Given the description of an element on the screen output the (x, y) to click on. 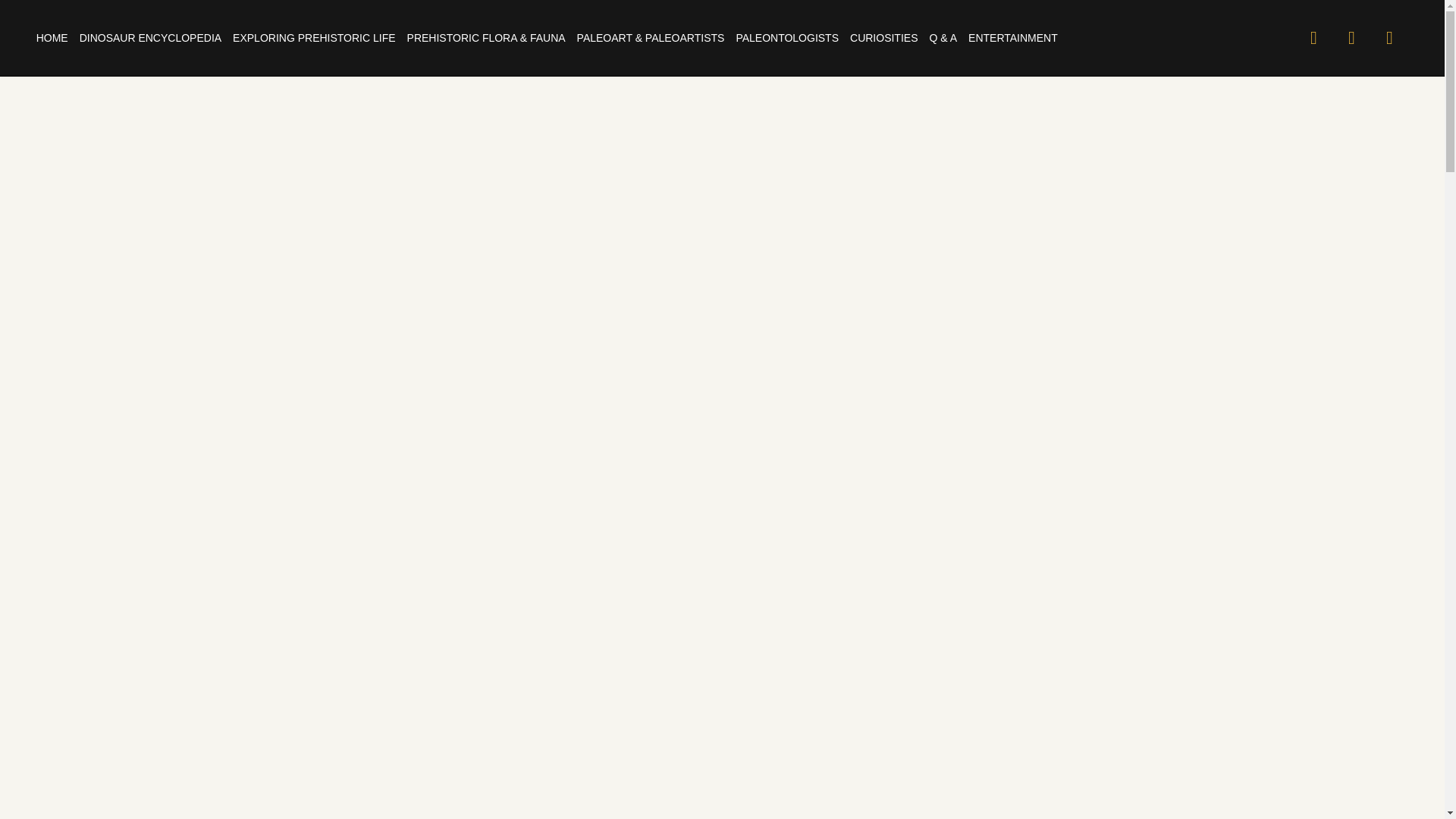
PALEONTOLOGISTS (786, 38)
ENTERTAINMENT (1013, 38)
DINOSAUR ENCYCLOPEDIA (150, 38)
EXPLORING PREHISTORIC LIFE (313, 38)
CURIOSITIES (883, 38)
